Given the description of an element on the screen output the (x, y) to click on. 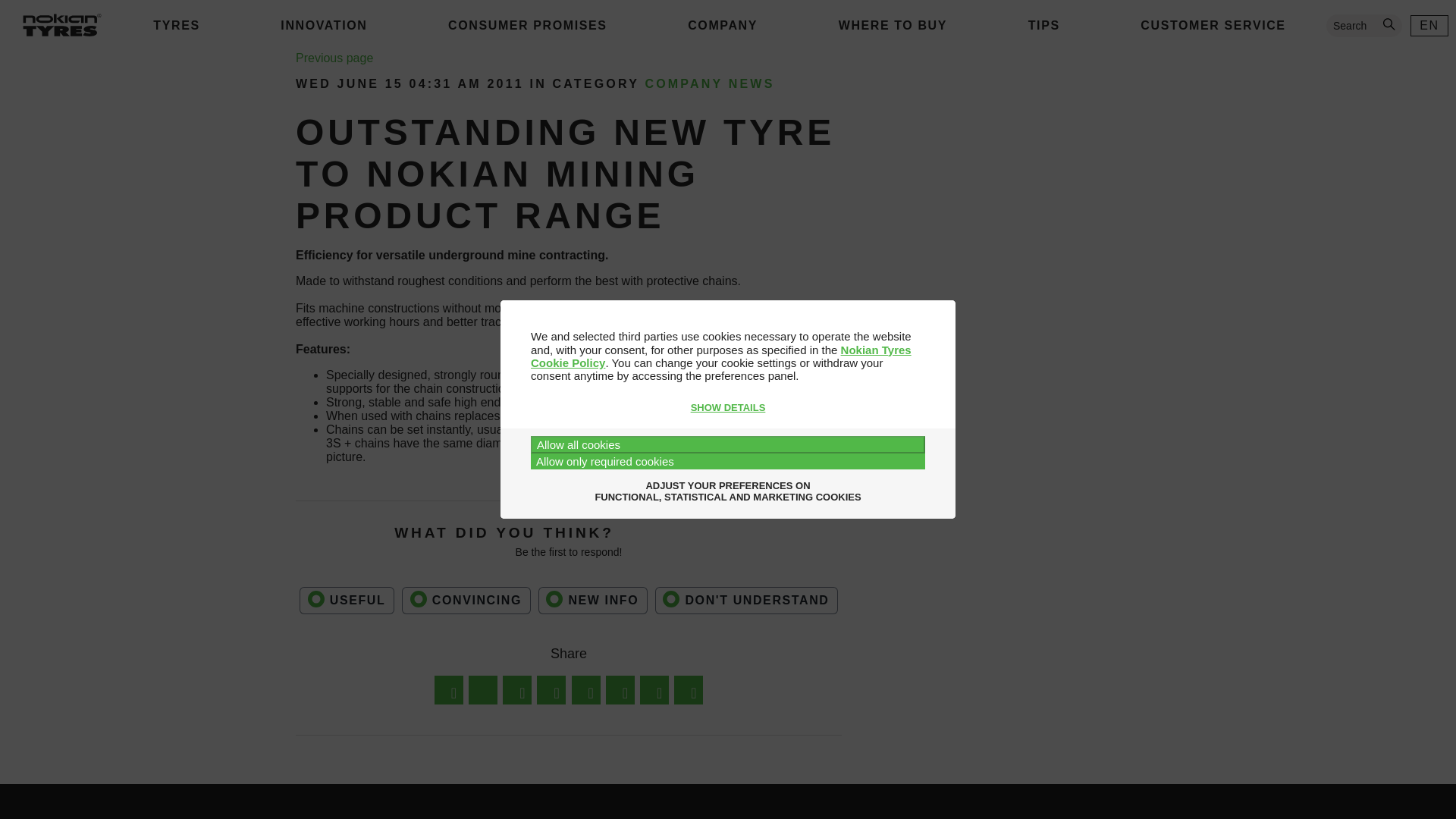
Allow only required cookies (727, 461)
Allow all cookies (727, 444)
Nokian Tyres Cookie Policy (721, 356)
SHOW DETAILS (727, 407)
